Given the description of an element on the screen output the (x, y) to click on. 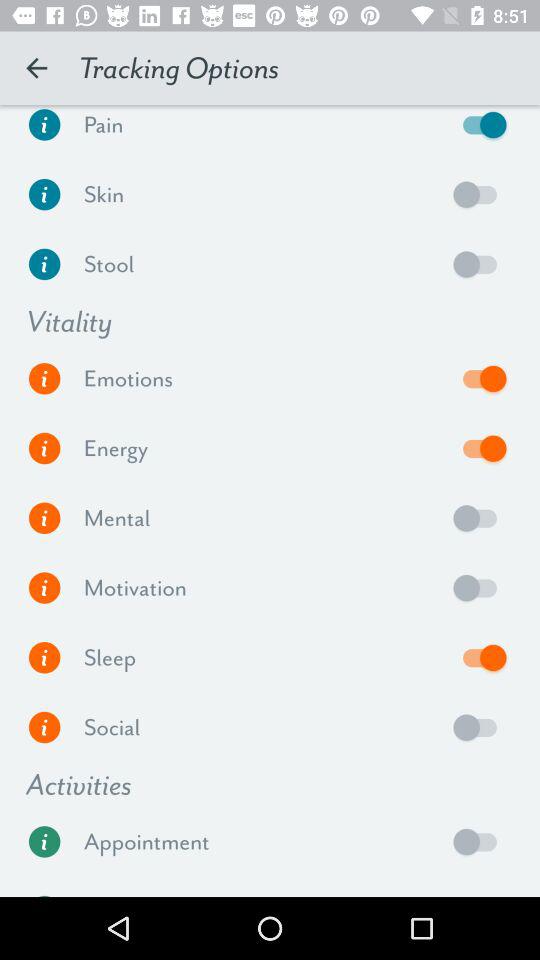
toggle the option on or off (479, 587)
